Given the description of an element on the screen output the (x, y) to click on. 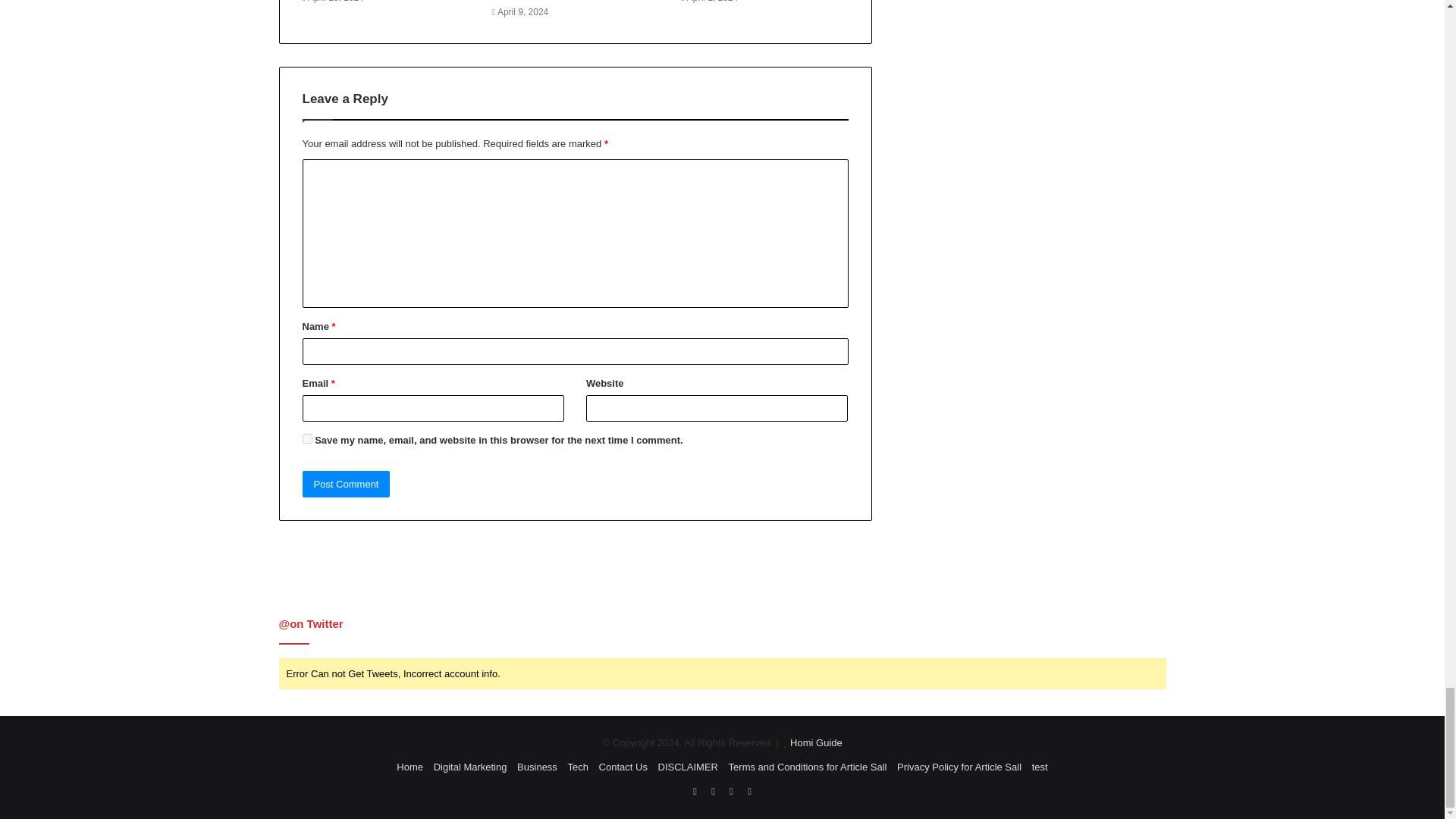
Post Comment (345, 483)
yes (306, 438)
